Given the description of an element on the screen output the (x, y) to click on. 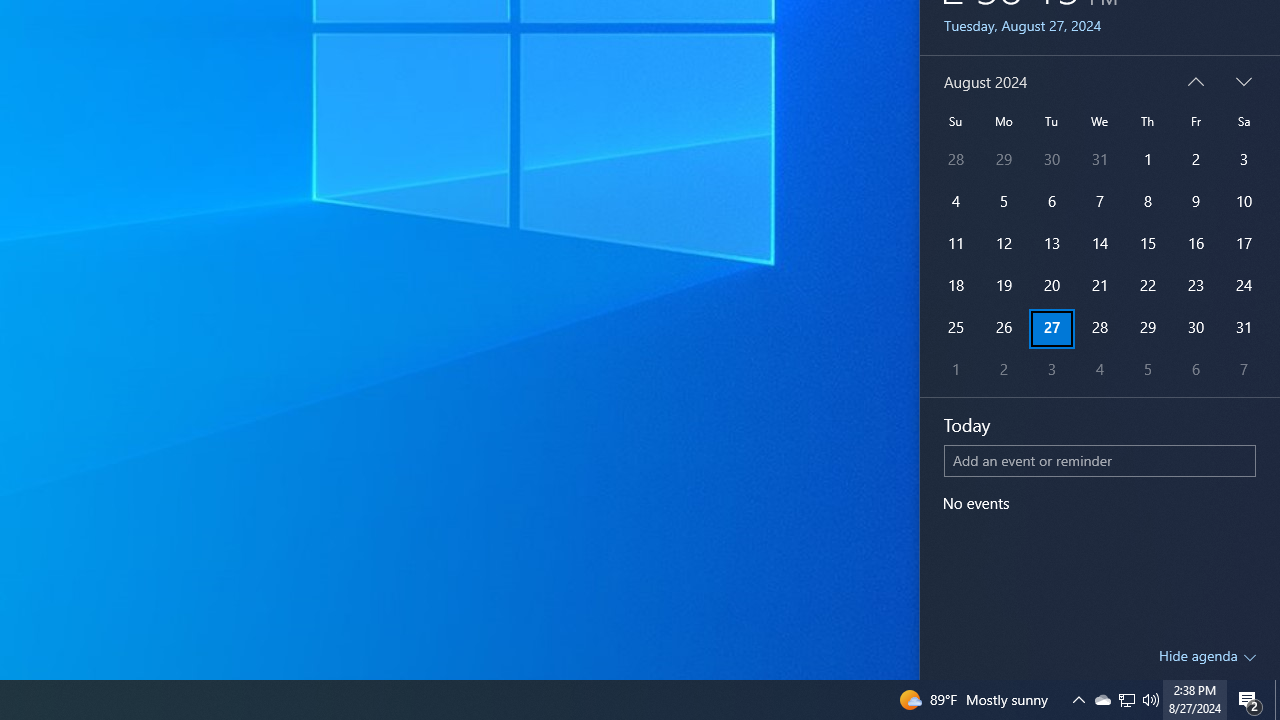
Add an event or reminder (1099, 460)
23 (1195, 286)
8 (1148, 202)
Action Center, 2 new notifications (1250, 699)
14 (1099, 244)
9 (1195, 202)
31 (1244, 328)
Notification Chevron (1078, 699)
13 (1052, 244)
27 (1052, 328)
10 (1244, 202)
26 (1003, 328)
Show desktop (1277, 699)
